Given the description of an element on the screen output the (x, y) to click on. 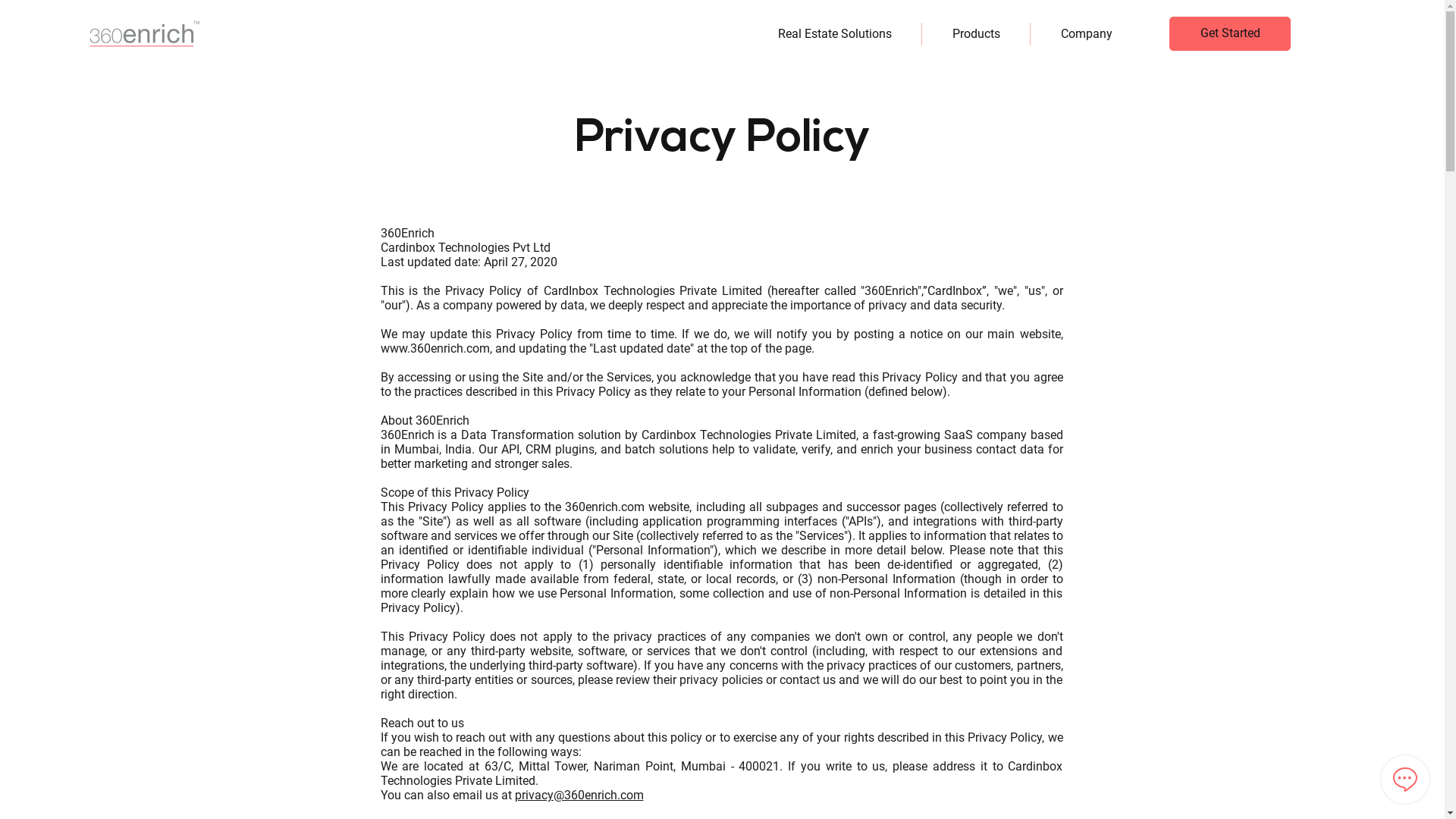
Get Started Element type: text (1229, 33)
Real Estate Solutions Element type: text (834, 33)
www.360enrich.com Element type: text (434, 348)
privacy@360enrich.com Element type: text (578, 794)
